Given the description of an element on the screen output the (x, y) to click on. 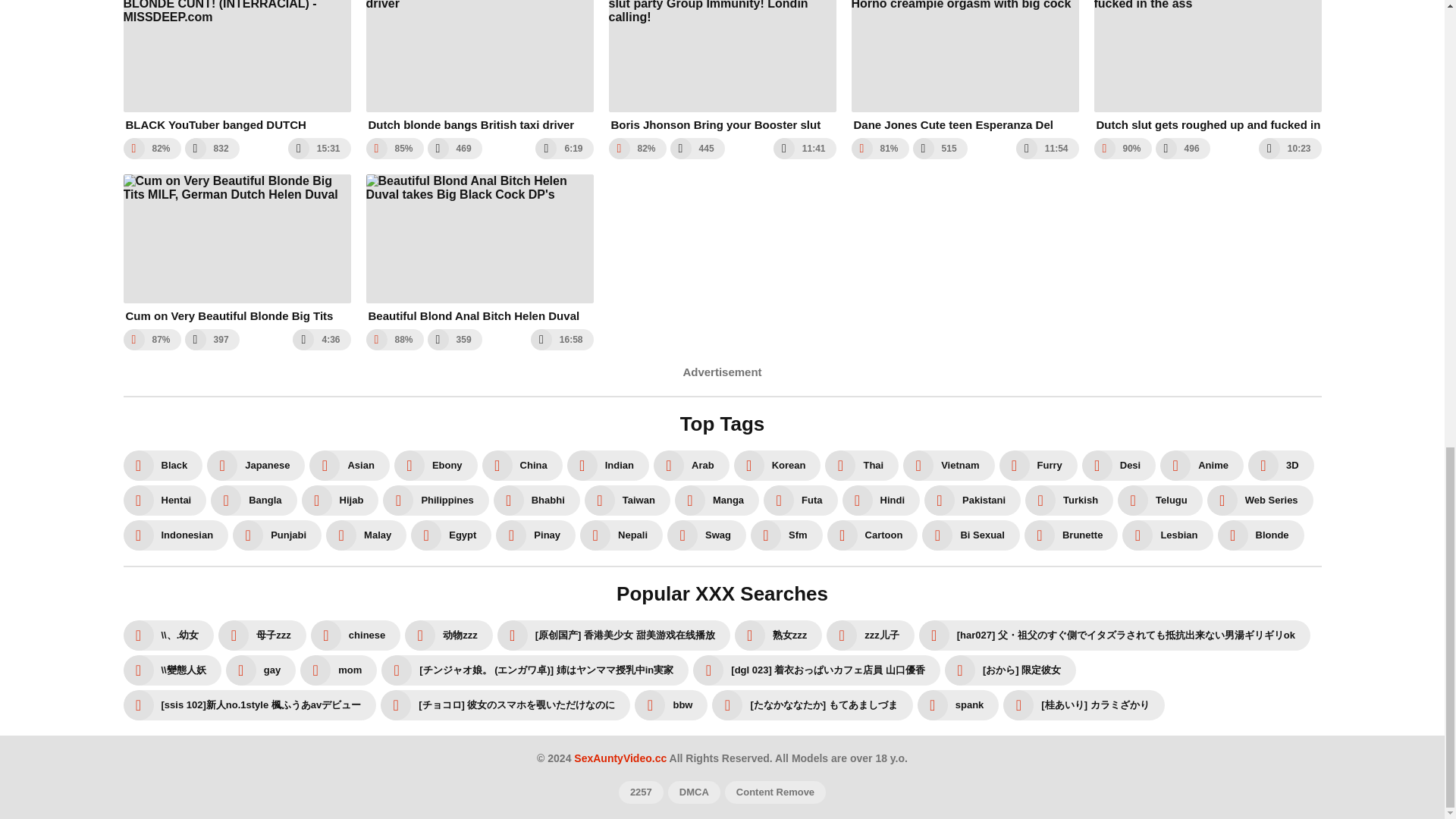
China (521, 465)
Philippines (434, 500)
Dutch blonde bangs British taxi driver (478, 66)
Furry (1037, 465)
3D (1280, 465)
Black (162, 465)
Indian (608, 465)
Korean (777, 465)
Hijab (339, 500)
Desi (1118, 465)
